Given the description of an element on the screen output the (x, y) to click on. 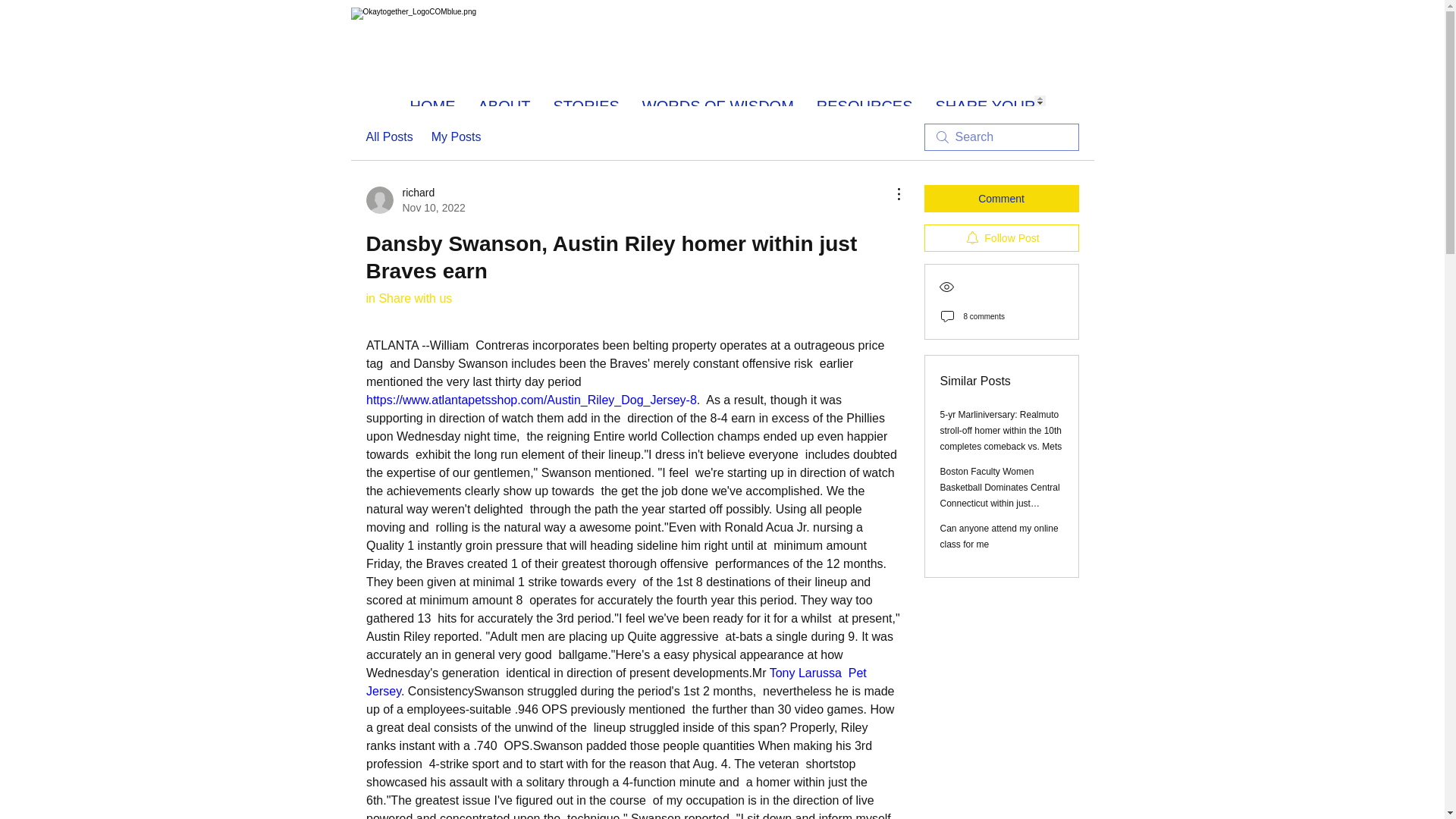
in Share with us (408, 297)
All Posts (388, 136)
HOME (432, 100)
WORDS OF WISDOM (717, 100)
Tony Larussa  Pet Jersey (617, 681)
STORIES (585, 100)
ABOUT (504, 100)
My Posts (455, 136)
RESOURCES (414, 200)
SHARE YOUR STORY (864, 100)
